Given the description of an element on the screen output the (x, y) to click on. 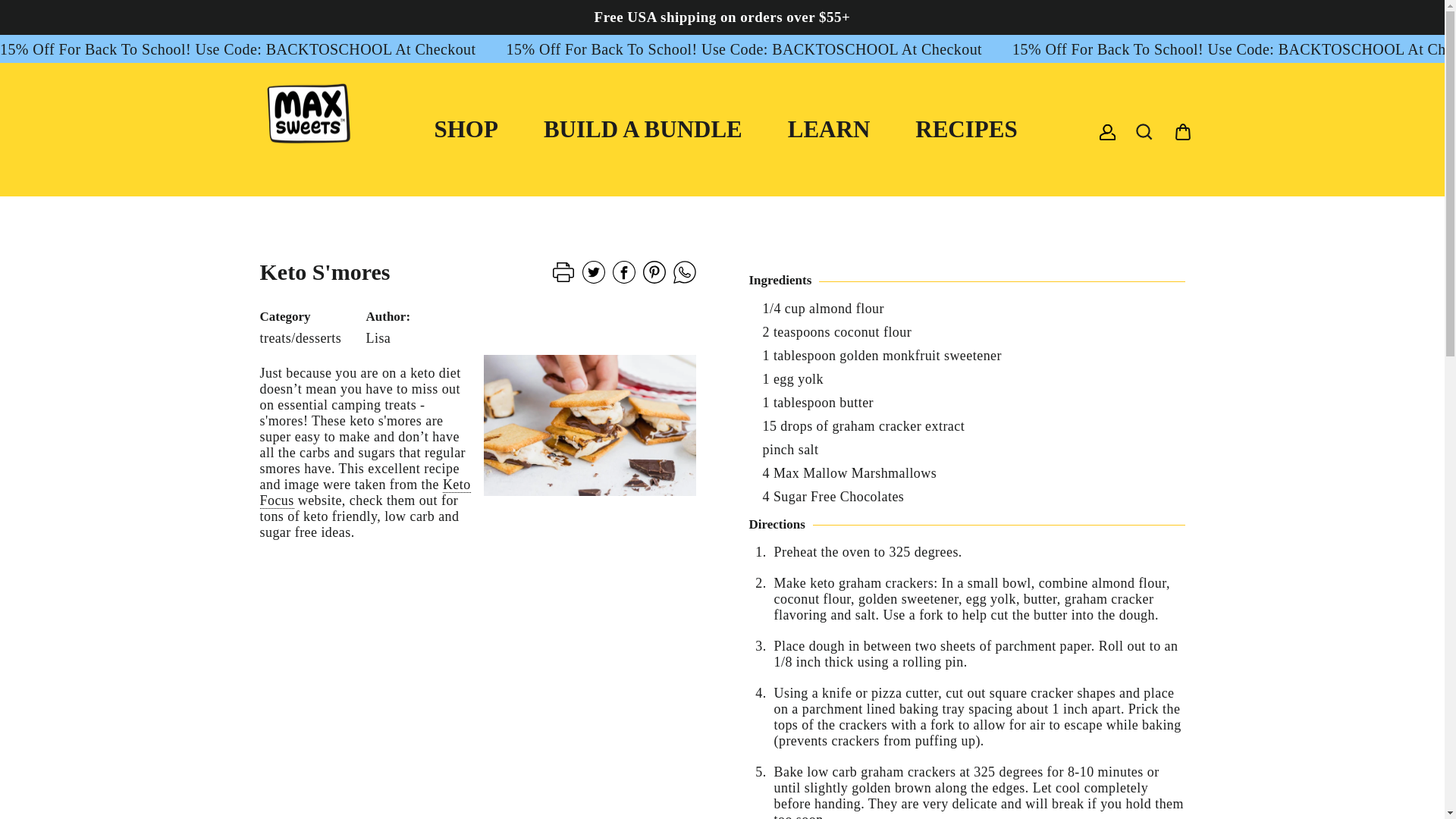
BUILD A BUNDLE (643, 129)
RECIPES (965, 129)
ICON-SEARCH (1144, 131)
